Given the description of an element on the screen output the (x, y) to click on. 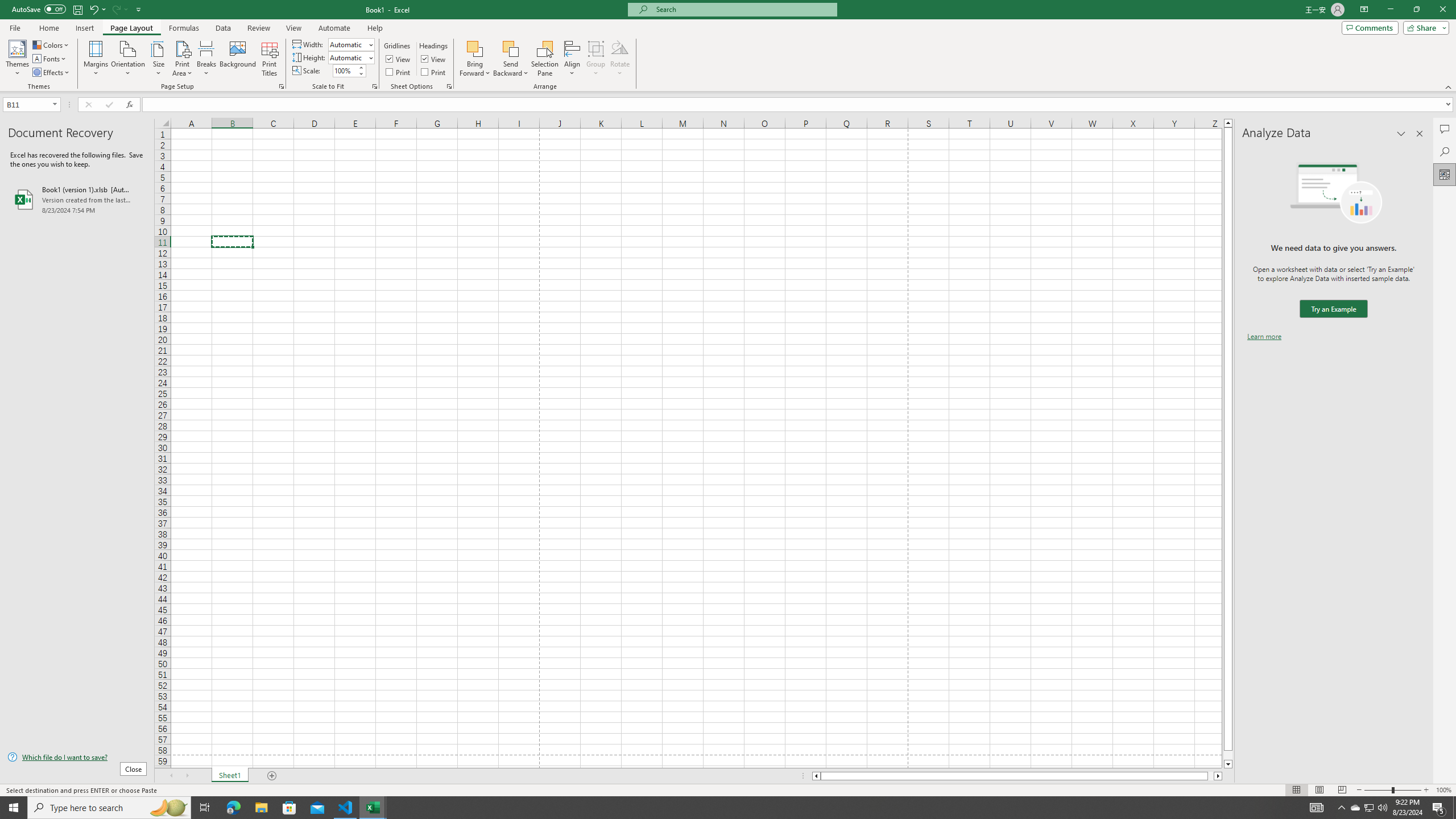
Width (350, 44)
Send Backward (510, 48)
Background... (237, 58)
Close pane (1419, 133)
Rotate (619, 58)
